Given the description of an element on the screen output the (x, y) to click on. 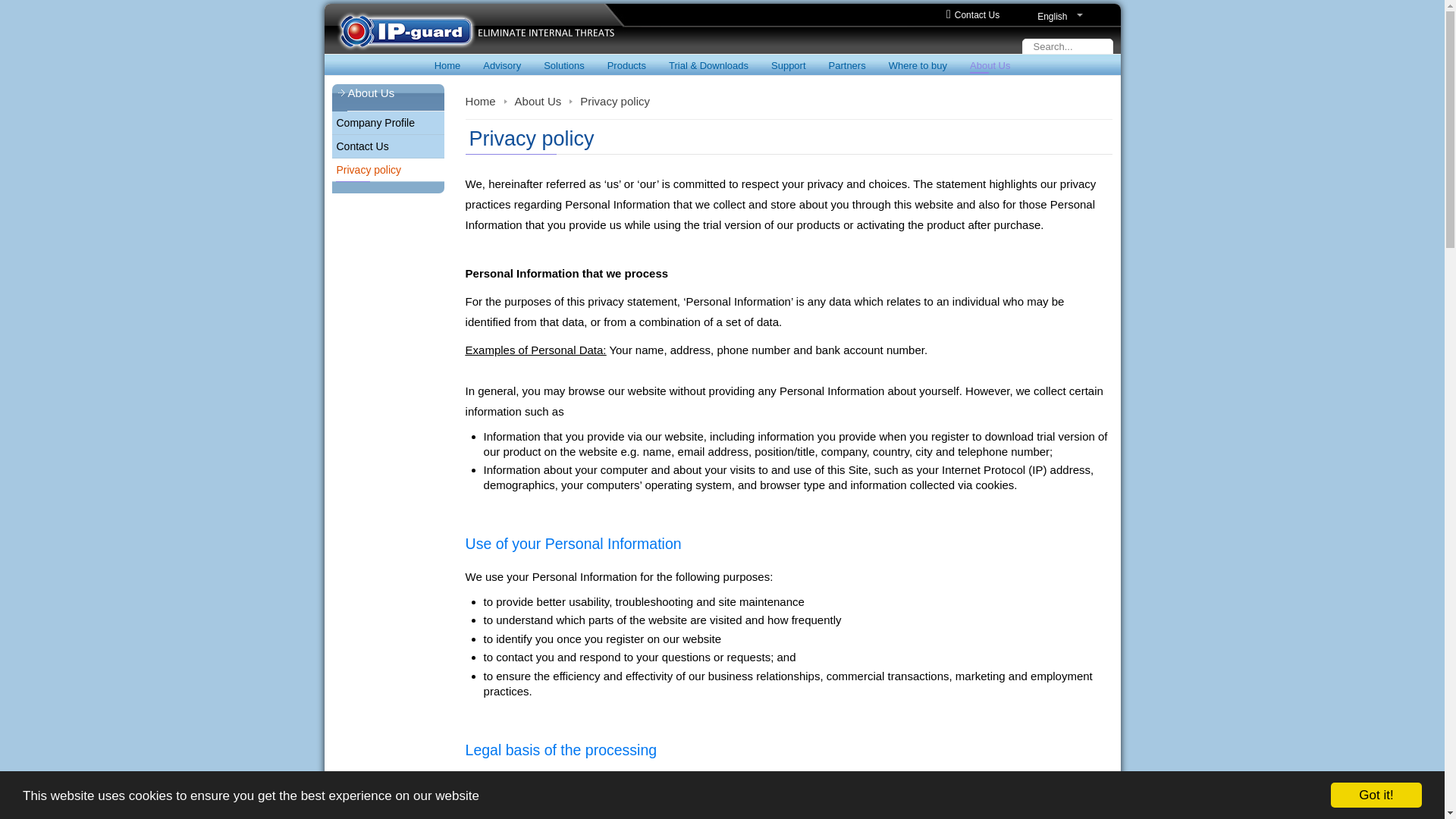
Search... (1067, 46)
Search... (1067, 46)
English (1062, 16)
Solutions (563, 65)
Contact Us (976, 14)
